Given the description of an element on the screen output the (x, y) to click on. 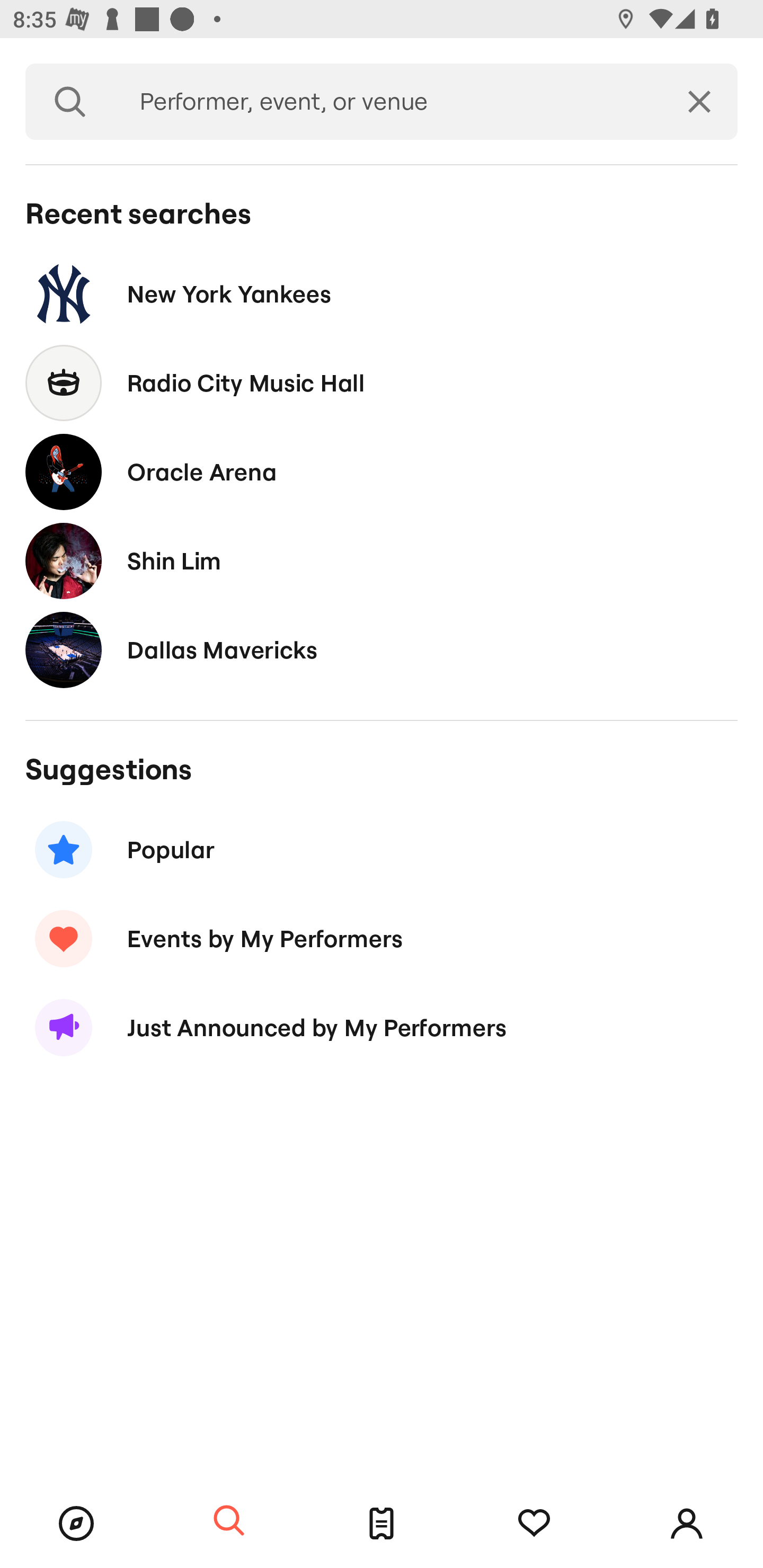
Search (69, 101)
Performer, event, or venue (387, 101)
Clear (699, 101)
New York Yankees (381, 293)
Radio City Music Hall (381, 383)
Oracle Arena (381, 471)
Shin Lim (381, 560)
Dallas Mavericks (381, 649)
Popular (381, 849)
Events by My Performers (381, 938)
Just Announced by My Performers (381, 1027)
Browse (76, 1523)
Search (228, 1521)
Tickets (381, 1523)
Tracking (533, 1523)
Account (686, 1523)
